Given the description of an element on the screen output the (x, y) to click on. 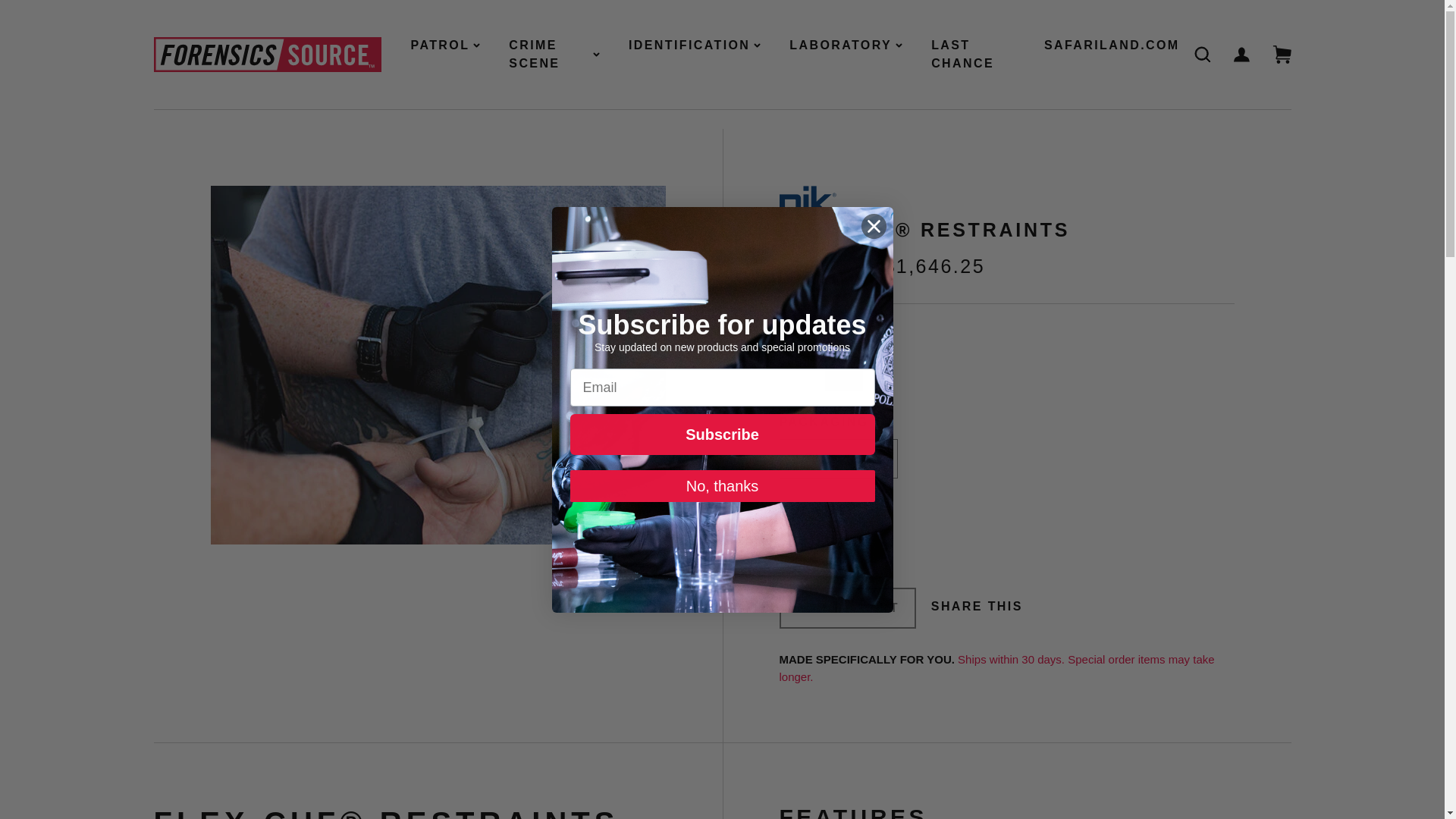
1 (801, 546)
Close dialog 1 (873, 225)
CRIME SCENE (554, 54)
Forensics Source (266, 54)
PATROL (445, 45)
